Given the description of an element on the screen output the (x, y) to click on. 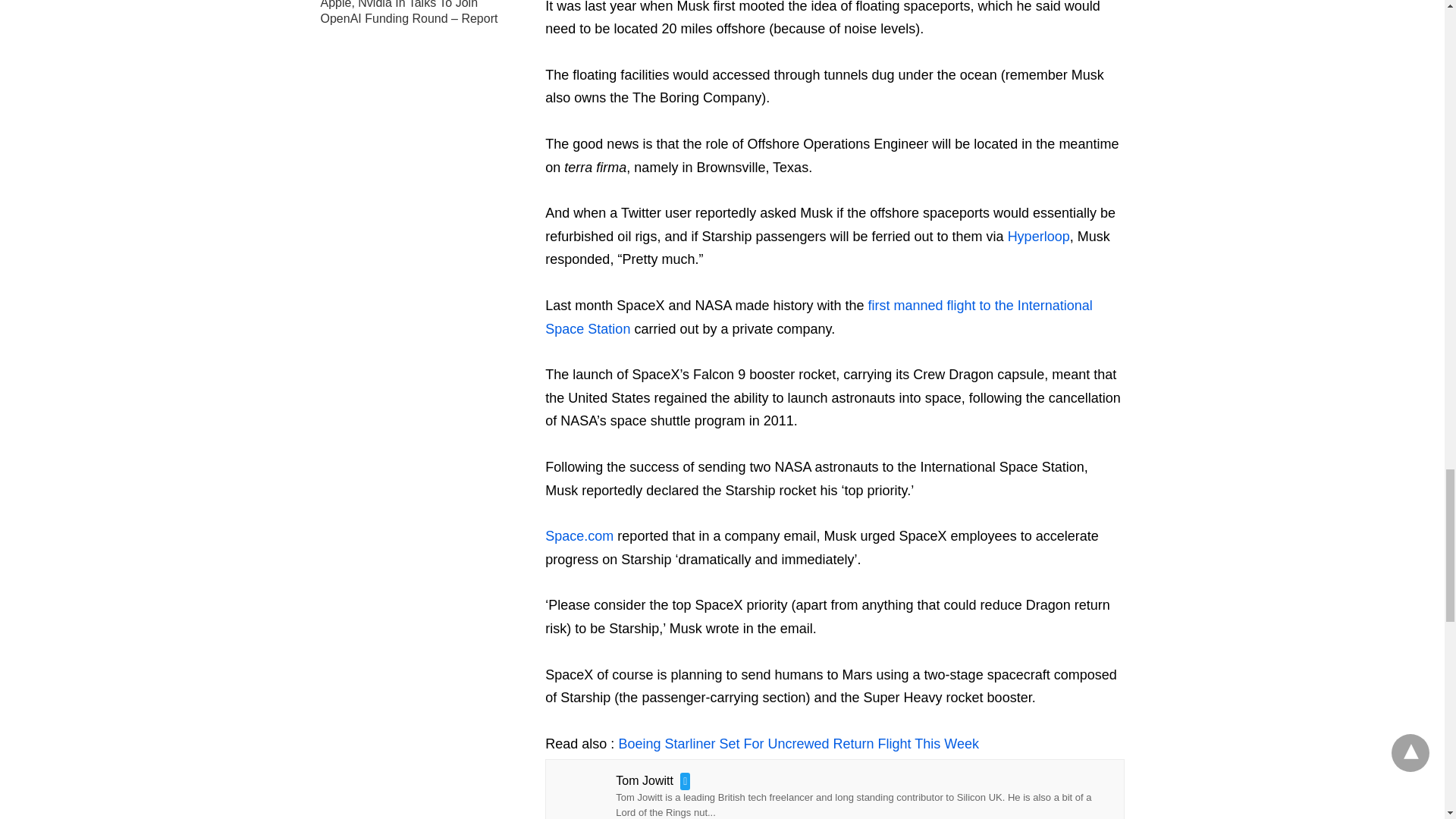
first manned flight to the International Space Station (818, 317)
Space.com (578, 535)
Boeing Starliner Set For Uncrewed Return Flight This Week (797, 743)
Hyperloop (1038, 236)
